Given the description of an element on the screen output the (x, y) to click on. 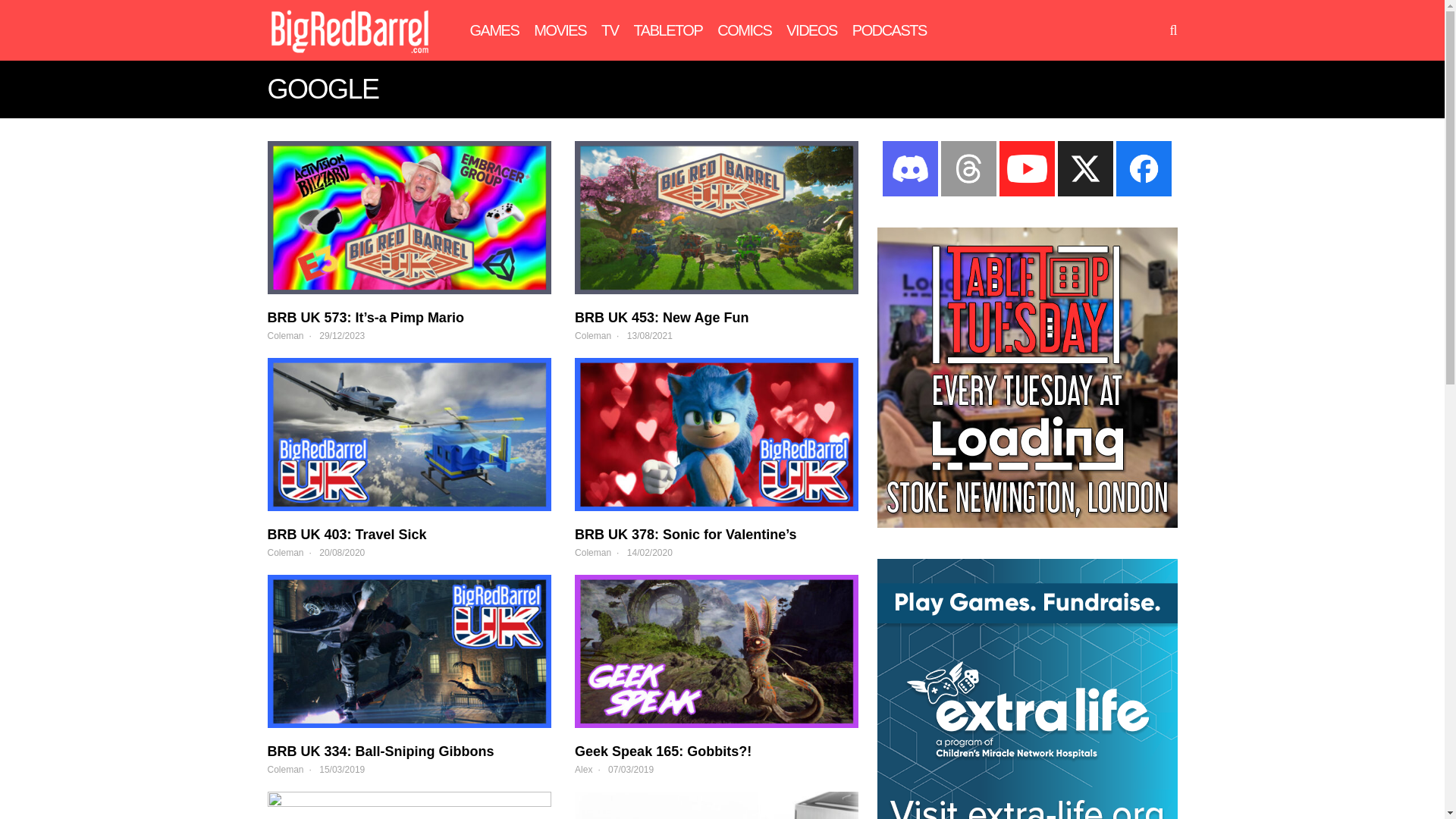
VIDEOS (811, 29)
BRB UK 453: New Age Fun (649, 335)
Coleman (284, 335)
TV (609, 29)
Coleman (284, 552)
BRB UK 403: Travel Sick (346, 534)
Coleman (593, 552)
PODCASTS (888, 29)
Geek Speak 165: Gobbits?! (663, 751)
BRB UK 403: Travel Sick (408, 434)
